Given the description of an element on the screen output the (x, y) to click on. 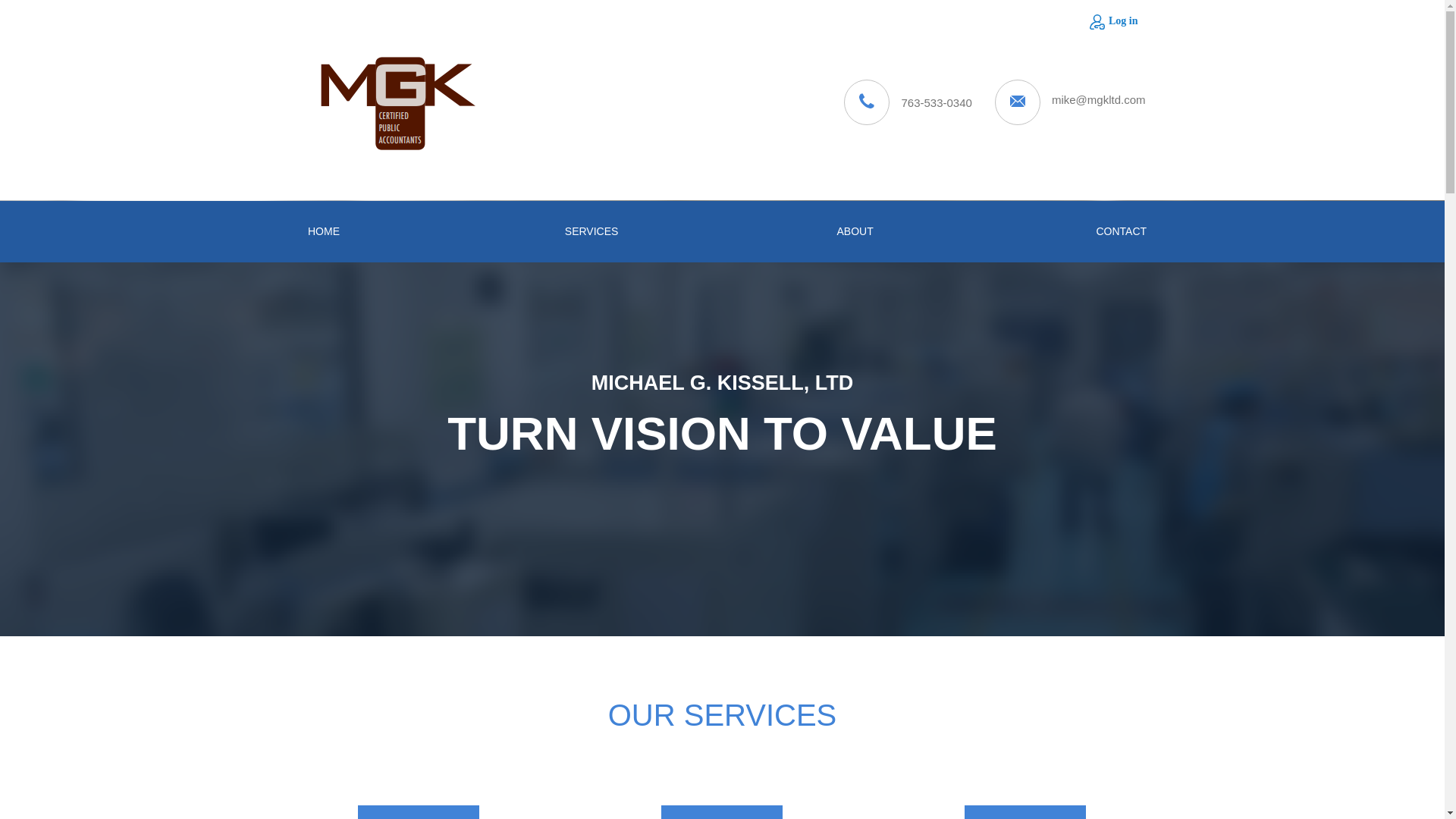
Log in (1113, 20)
ABOUT (855, 231)
SERVICES (589, 231)
CONTACT (1120, 231)
HOME (323, 231)
763-533-0340 (936, 101)
